Given the description of an element on the screen output the (x, y) to click on. 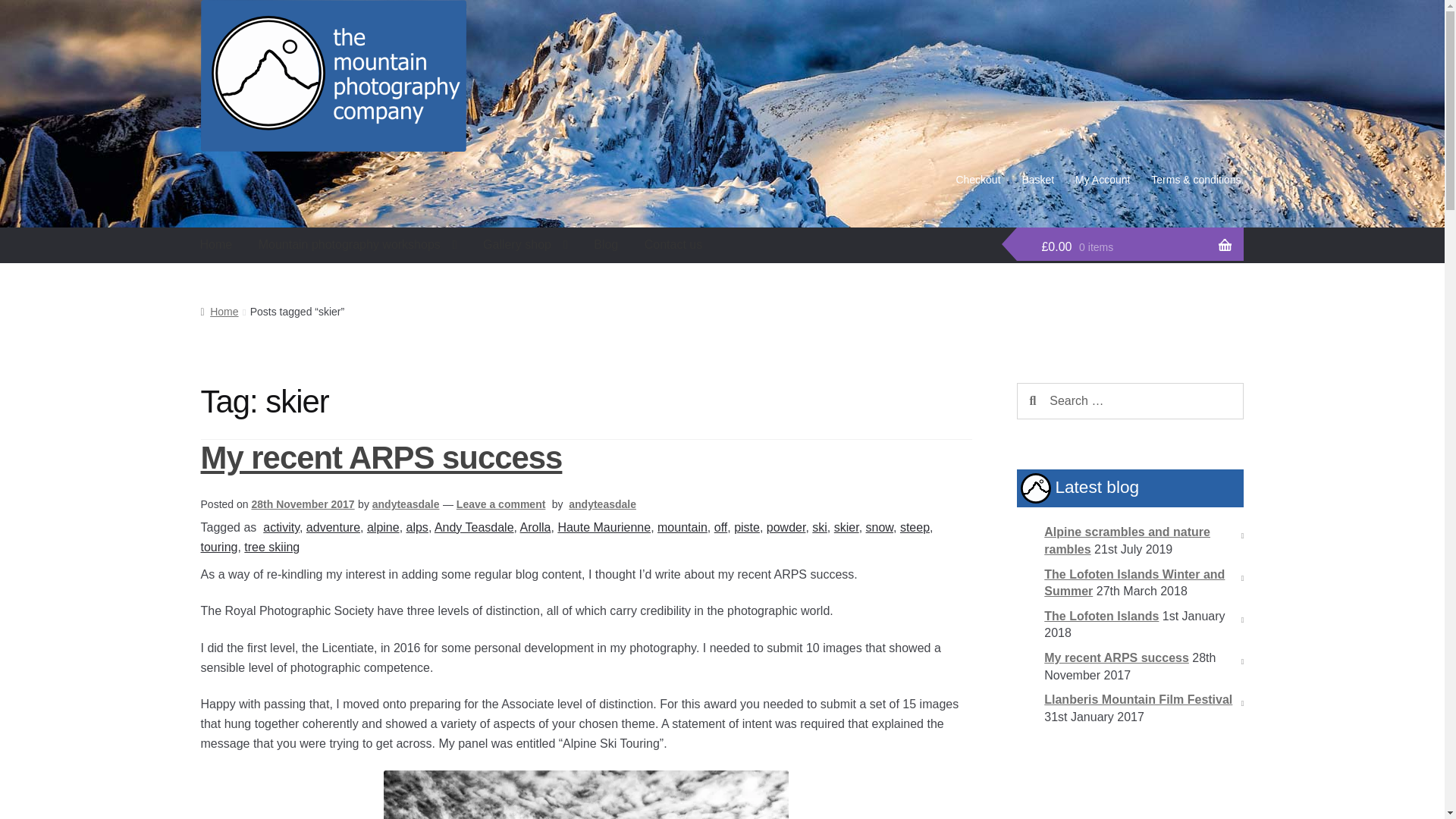
Home (216, 244)
Posts by andyteasdale (602, 503)
Leave a comment (501, 503)
andyteasdale (602, 503)
Mountain photography workshops (357, 244)
Gallery shop (525, 244)
My Account (1101, 179)
andyteasdale (405, 503)
Checkout (977, 179)
My recent ARPS success (381, 457)
Blog (605, 244)
28th November 2017 (301, 503)
Basket (1036, 179)
